Given the description of an element on the screen output the (x, y) to click on. 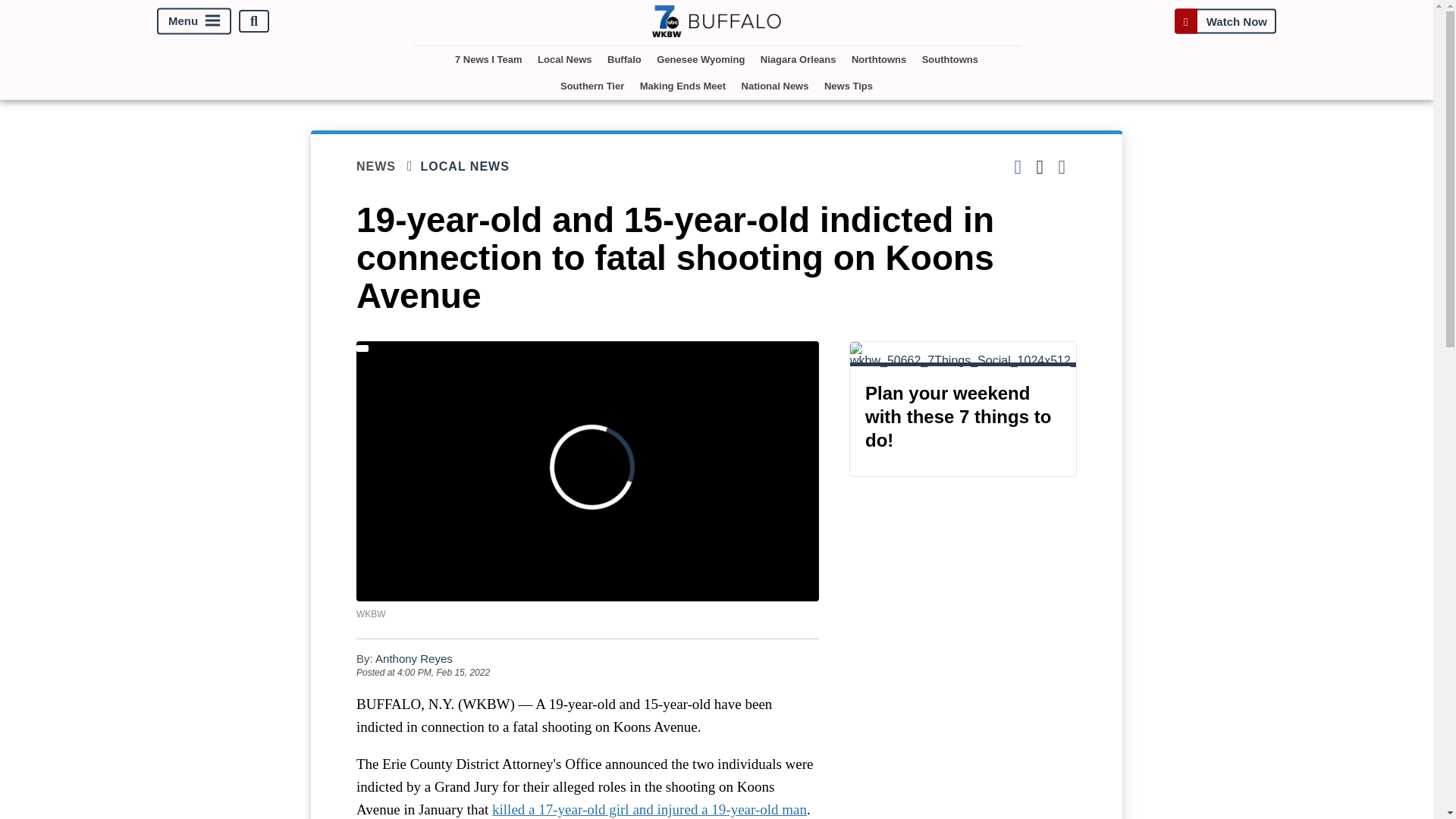
Menu (194, 21)
Watch Now (1224, 21)
